Given the description of an element on the screen output the (x, y) to click on. 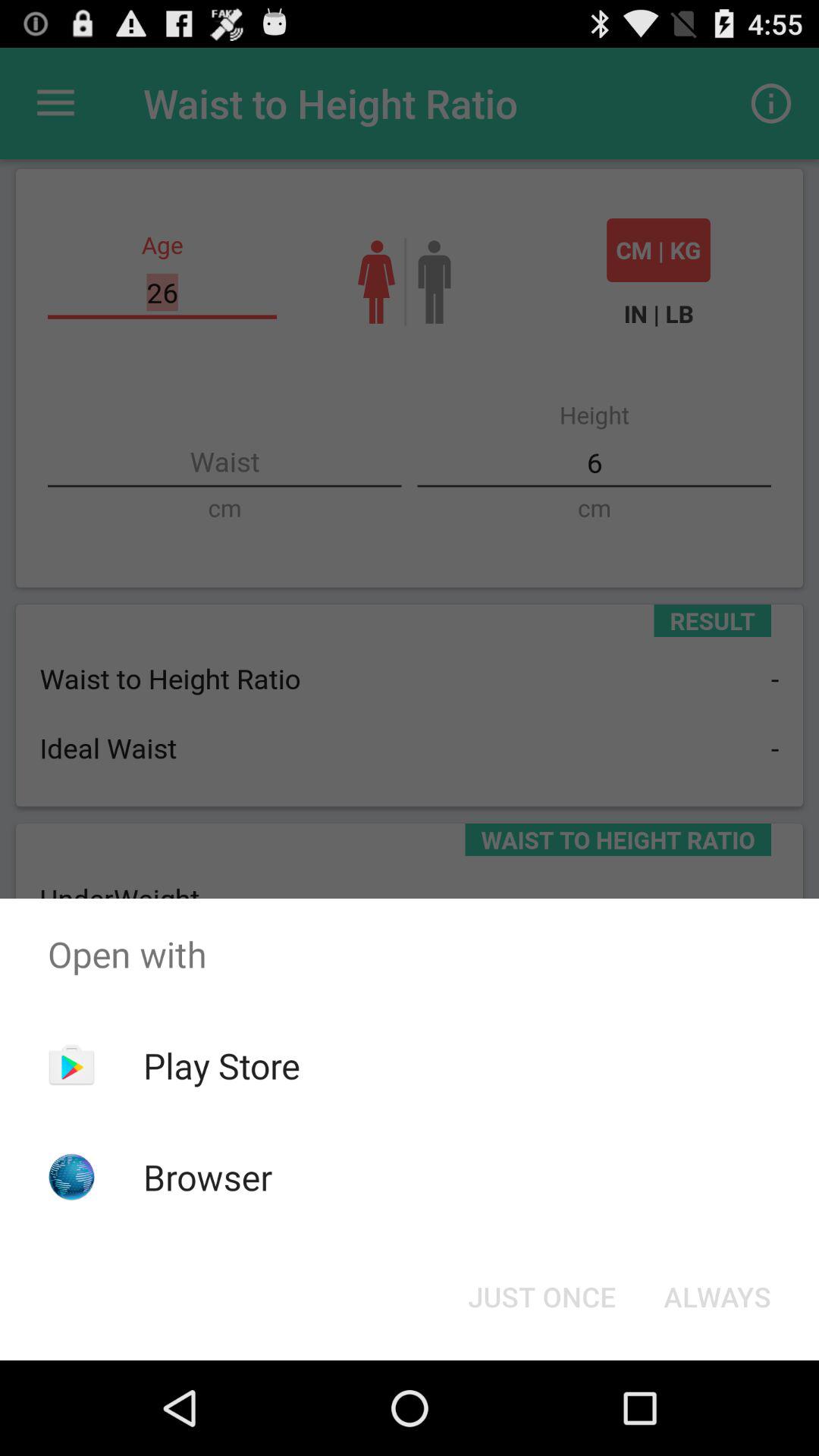
jump until the always item (717, 1296)
